Given the description of an element on the screen output the (x, y) to click on. 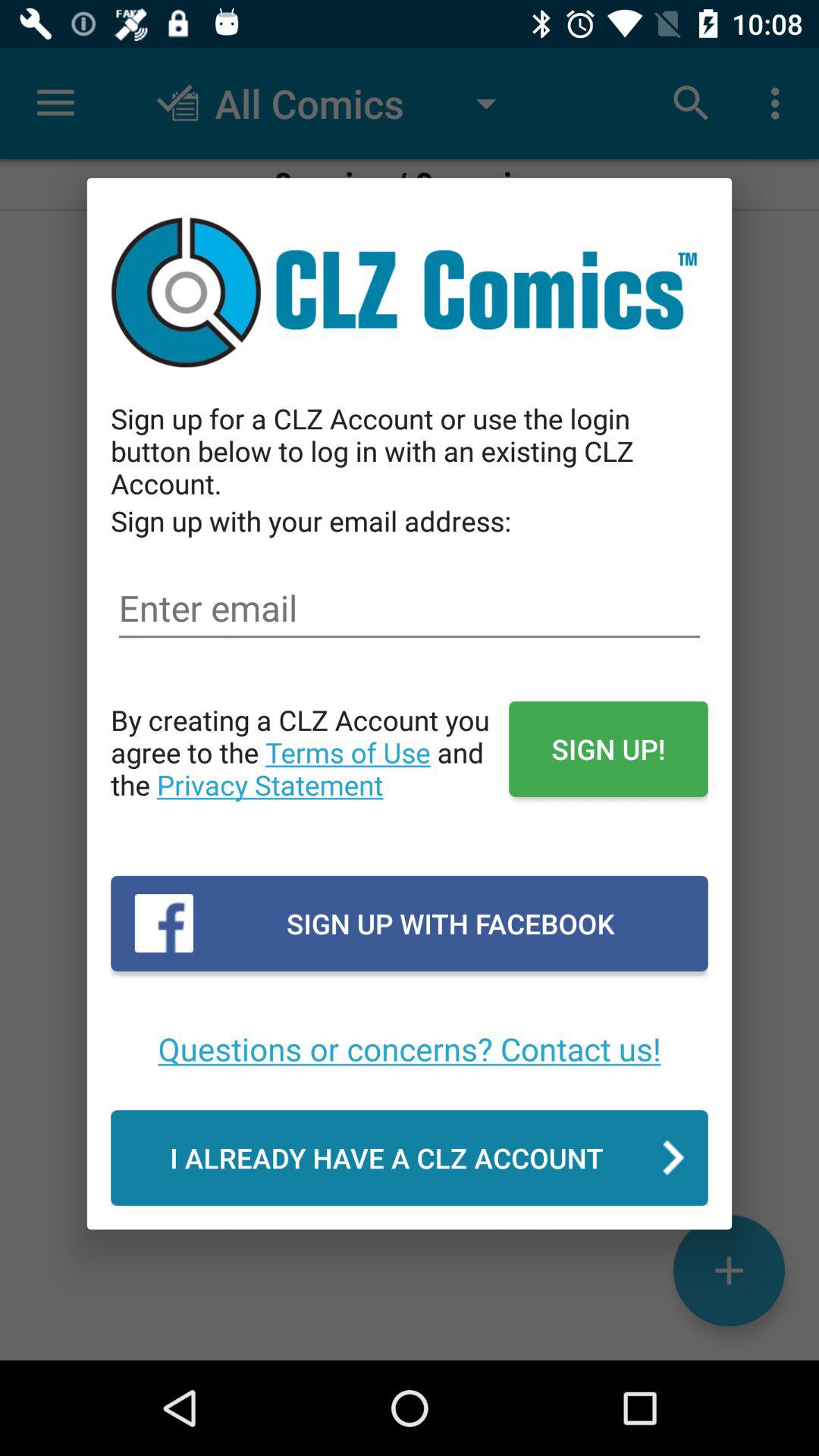
press icon below the sign up with (409, 608)
